Given the description of an element on the screen output the (x, y) to click on. 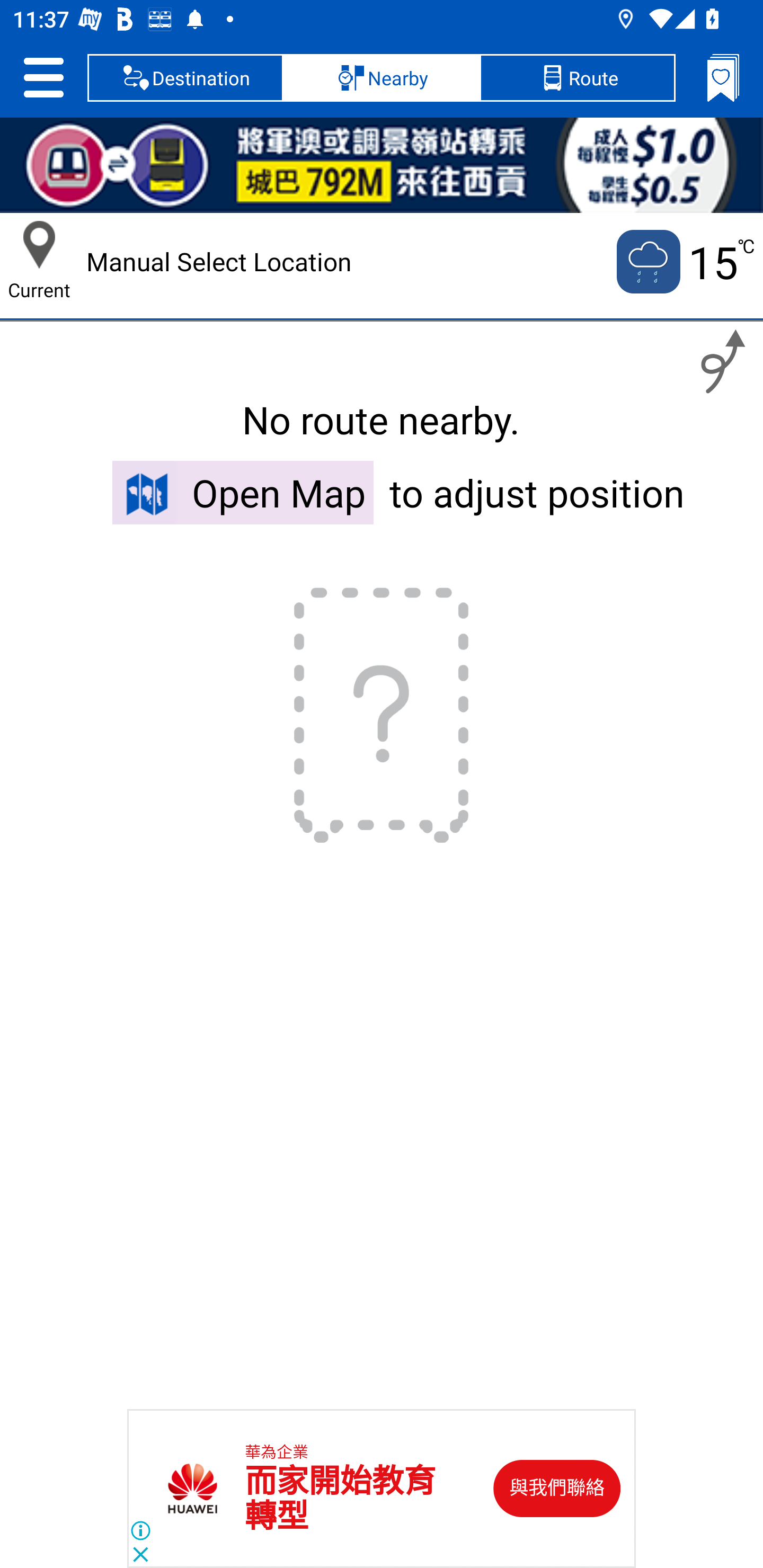
Destination (185, 77)
Nearby, selected (381, 77)
Route (577, 77)
Bookmarks (723, 77)
Setting (43, 77)
792M BRI (381, 165)
Current Location (38, 244)
Current temputure is  15  no 15 ℃ (684, 261)
Open Map (242, 491)
華為企業 (276, 1452)
與我們聯絡 (556, 1488)
而家開始教育 轉型 而家開始教育 轉型 (339, 1498)
